Given the description of an element on the screen output the (x, y) to click on. 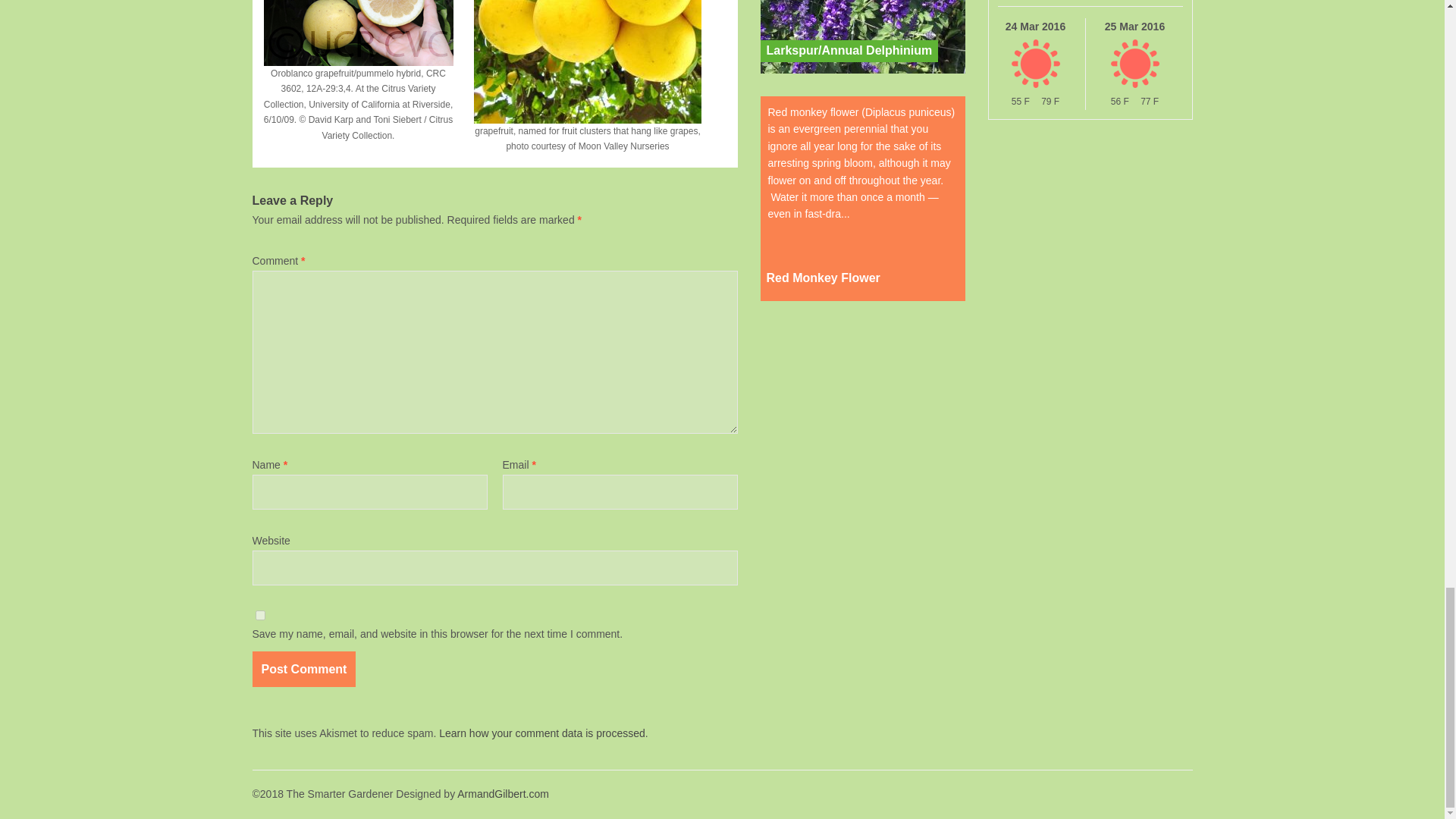
Post Comment (303, 669)
Red Monkey Flower (822, 278)
Learn how your comment data is processed (542, 733)
yes (259, 614)
Post Comment (303, 669)
